Given the description of an element on the screen output the (x, y) to click on. 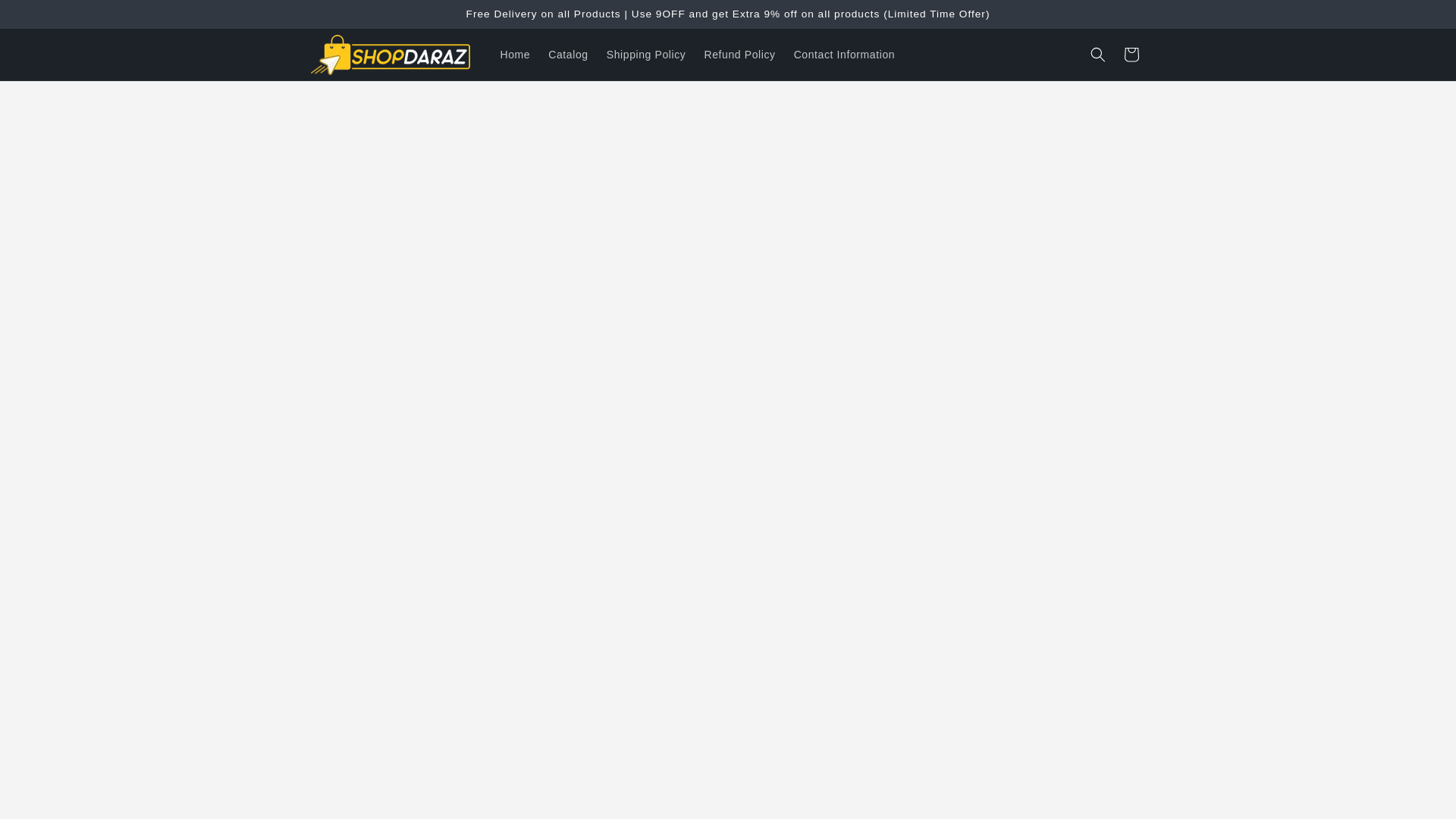
Home (516, 54)
Refund Policy (739, 54)
Shipping Policy (645, 54)
Cart (1131, 54)
Catalog (567, 54)
Skip to content (45, 17)
Contact Information (844, 54)
